Given the description of an element on the screen output the (x, y) to click on. 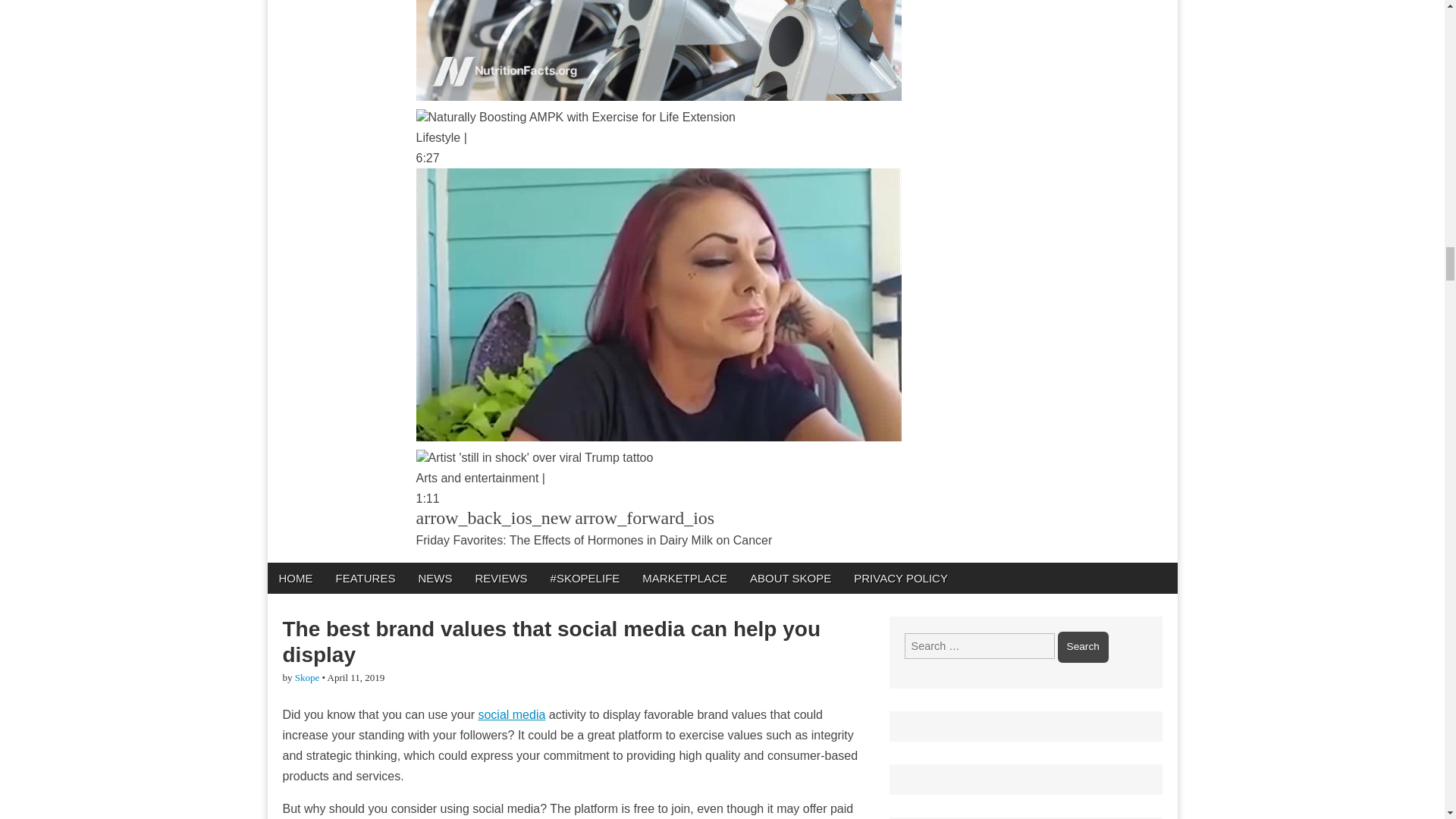
Posts by Skope (307, 677)
social media (510, 714)
Search (1083, 646)
MARKETPLACE (684, 577)
Search (1083, 646)
FEATURES (365, 577)
HOME (294, 577)
Skope (307, 677)
NEWS (434, 577)
PRIVACY POLICY (901, 577)
ABOUT SKOPE (790, 577)
Search (1083, 646)
REVIEWS (500, 577)
